Given the description of an element on the screen output the (x, y) to click on. 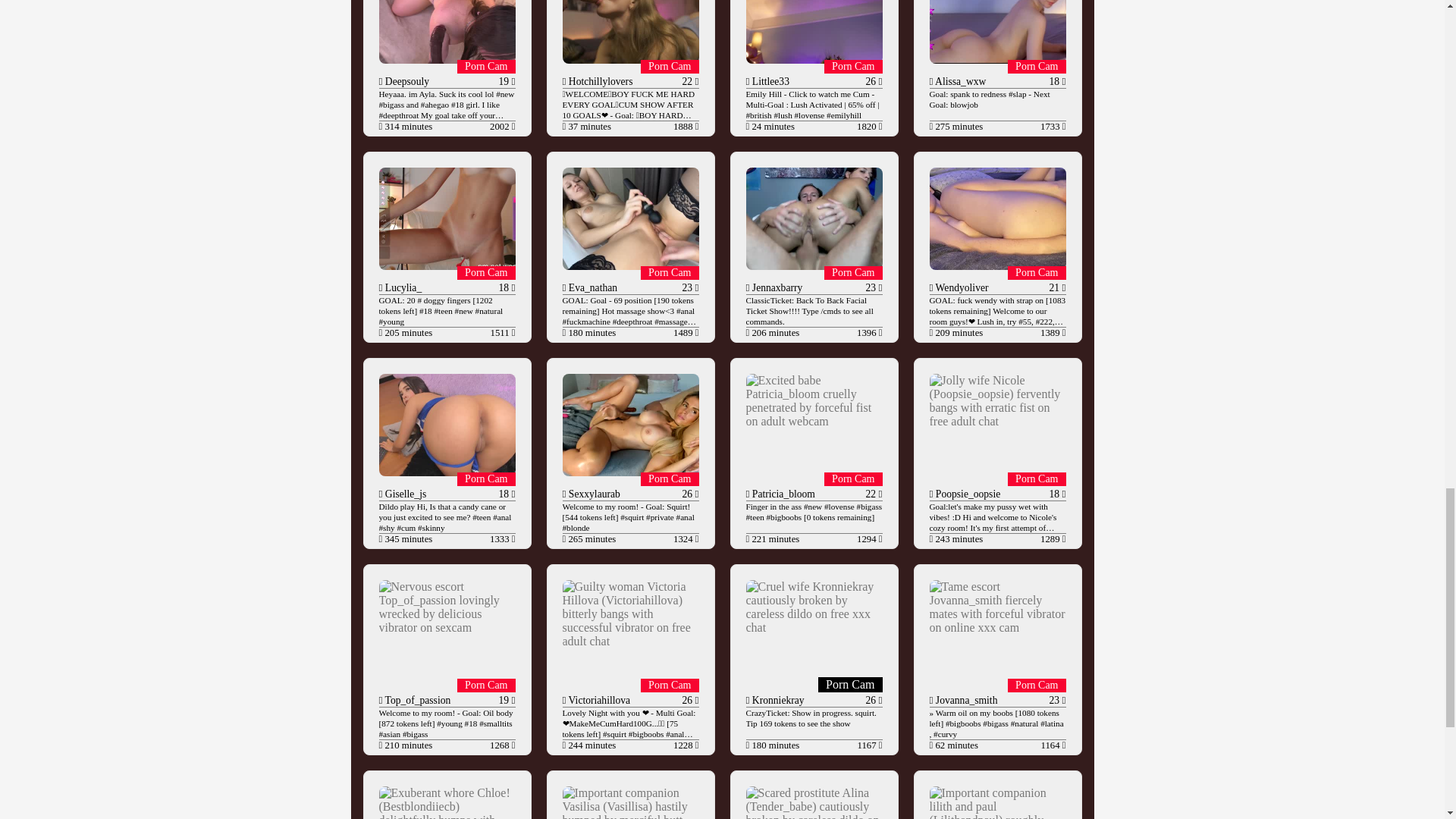
Littlee33 (769, 81)
Hotchillylovers (598, 81)
Deepsouly (405, 81)
